Given the description of an element on the screen output the (x, y) to click on. 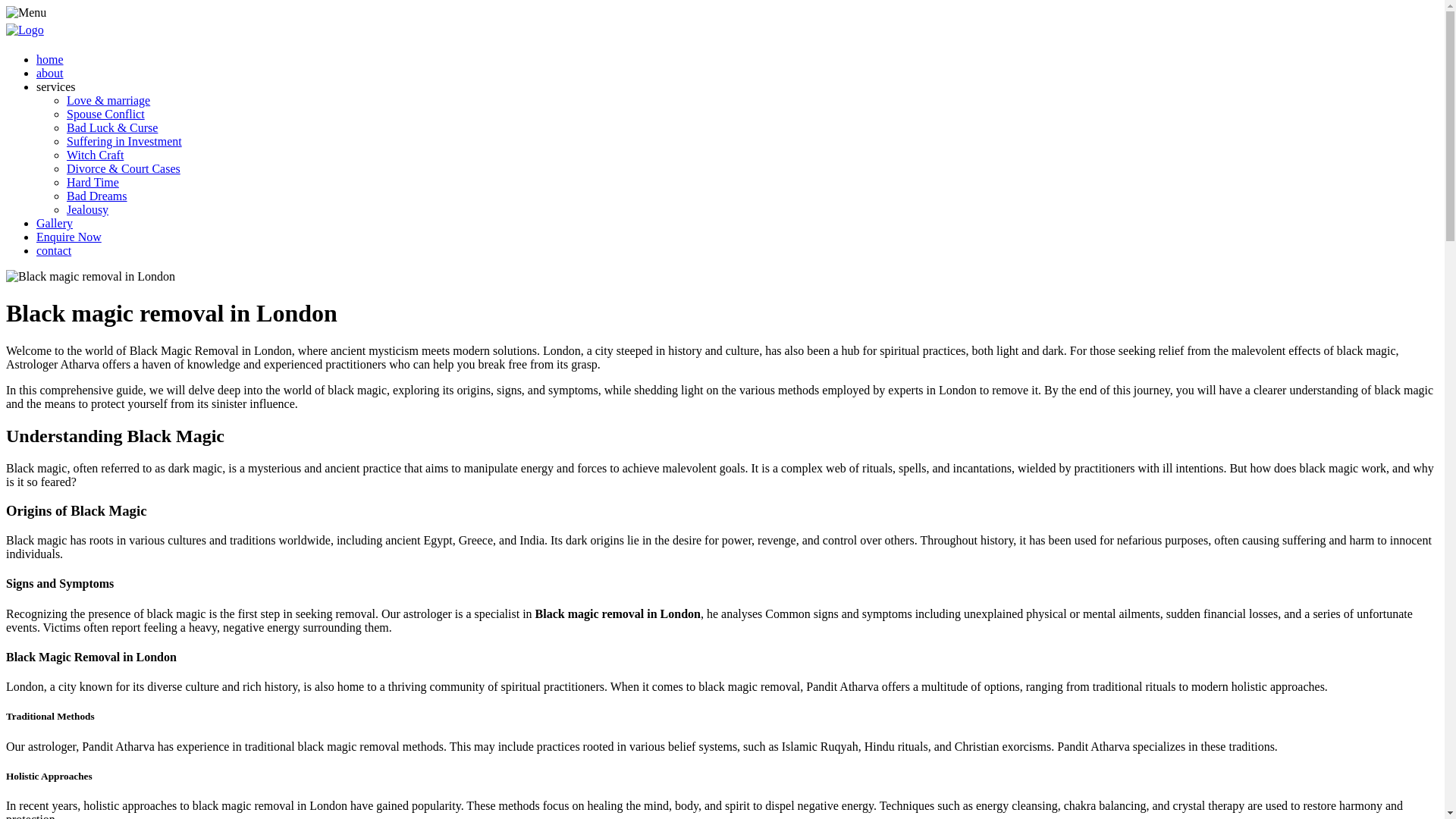
Enquire Now (68, 236)
Gallery (54, 223)
Spouse Conflict (105, 113)
services (55, 86)
home (50, 59)
about (50, 72)
contact (53, 250)
Hard Time (92, 182)
Suffering in Investment (124, 141)
Witch Craft (94, 154)
Black magic removal in London (89, 276)
Bad Dreams (97, 195)
Jealousy (86, 209)
